Given the description of an element on the screen output the (x, y) to click on. 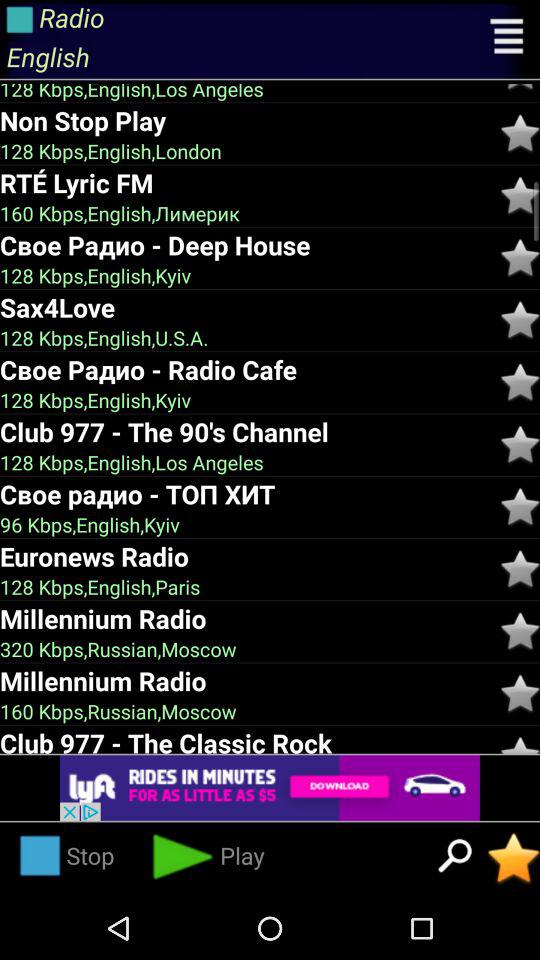
play option (520, 87)
